Given the description of an element on the screen output the (x, y) to click on. 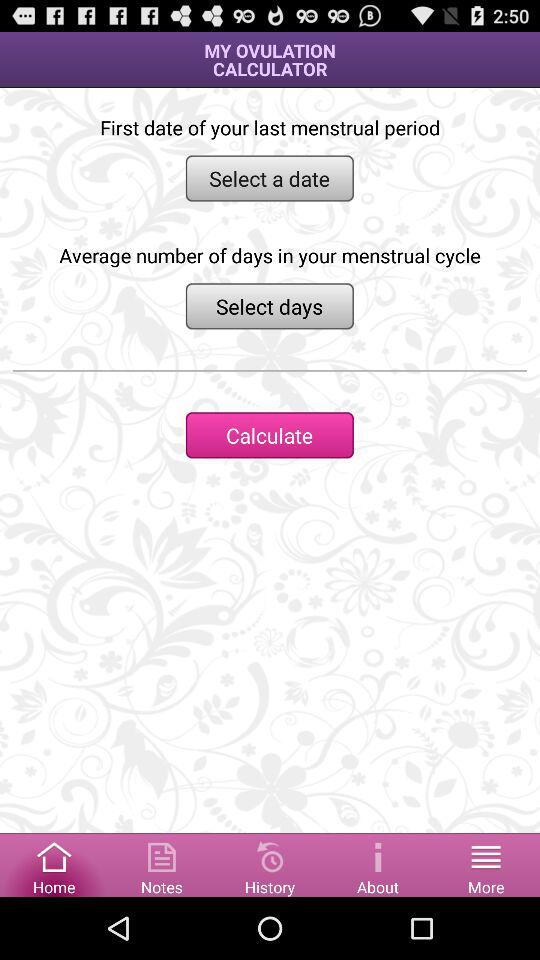
about button (378, 864)
